Given the description of an element on the screen output the (x, y) to click on. 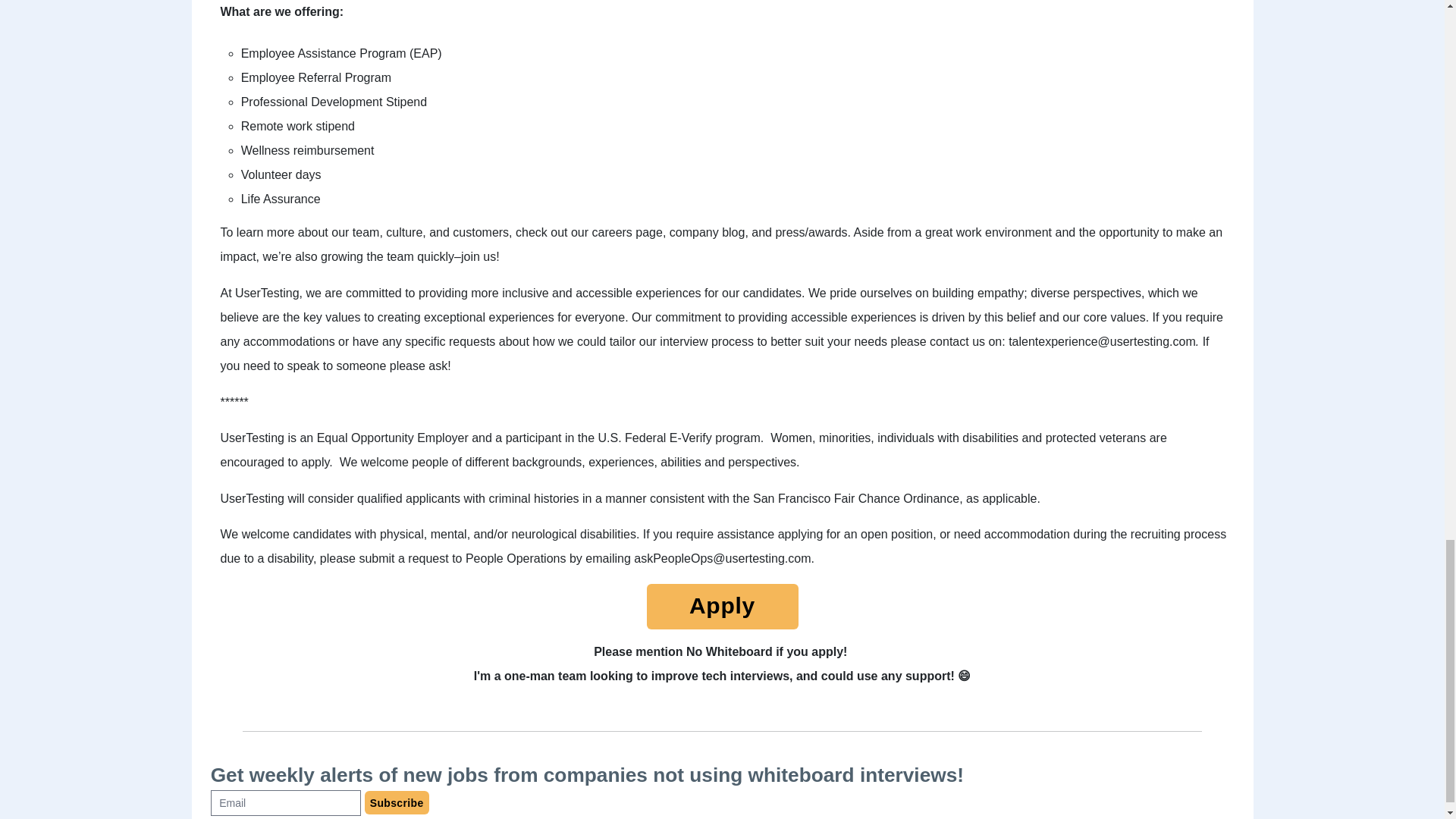
company blog (707, 232)
careers page (627, 232)
Subscribe (397, 802)
Apply (721, 609)
Apply (721, 606)
